Given the description of an element on the screen output the (x, y) to click on. 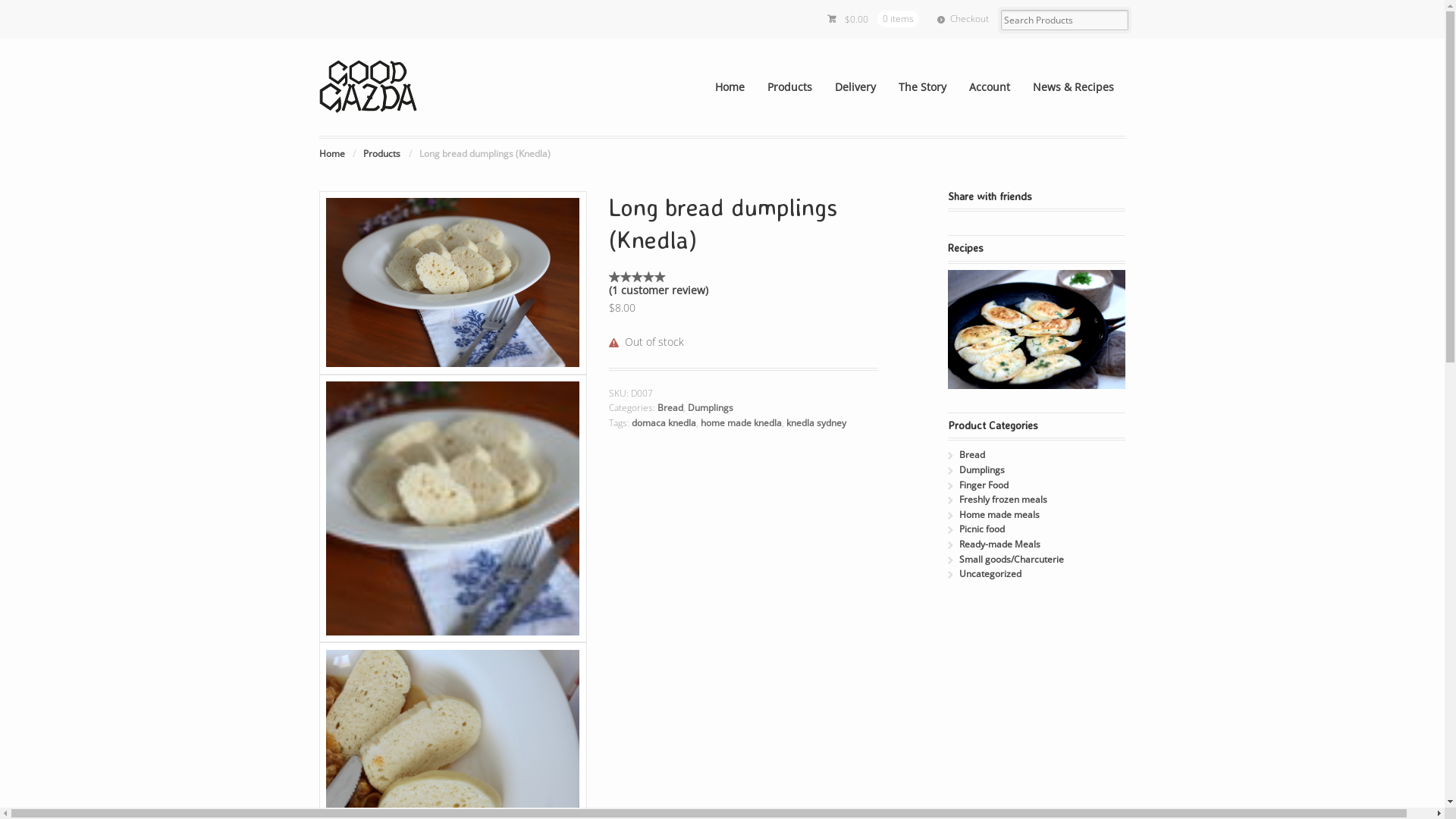
Dumplings Element type: text (981, 469)
domaca knedla Element type: text (663, 422)
Bread Element type: text (972, 454)
Account Element type: text (989, 86)
knedla sydney Element type: text (816, 422)
Products Element type: text (381, 153)
Delivery Element type: text (855, 86)
(1 customer review) Element type: text (658, 289)
Uncategorized Element type: text (990, 573)
$0.000 items Element type: text (873, 19)
Home Element type: text (729, 86)
Freshly frozen meals Element type: text (1003, 498)
The Story Element type: text (922, 86)
Finger Food Element type: text (983, 484)
News & Recipes Element type: text (1073, 86)
Bread Element type: text (670, 407)
GoodGazda_food_1 Element type: hover (452, 282)
Home Element type: text (332, 153)
Search Element type: text (64, 10)
Products Element type: text (789, 86)
Picnic food Element type: text (981, 528)
Home made meals Element type: text (999, 514)
Checkout Element type: text (962, 19)
Ready-made Meals Element type: text (999, 543)
Dumplings Element type: text (710, 407)
home made knedla Element type: text (740, 422)
Small goods/Charcuterie Element type: text (1011, 558)
GoodGazda_food_1 Element type: hover (452, 508)
